Given the description of an element on the screen output the (x, y) to click on. 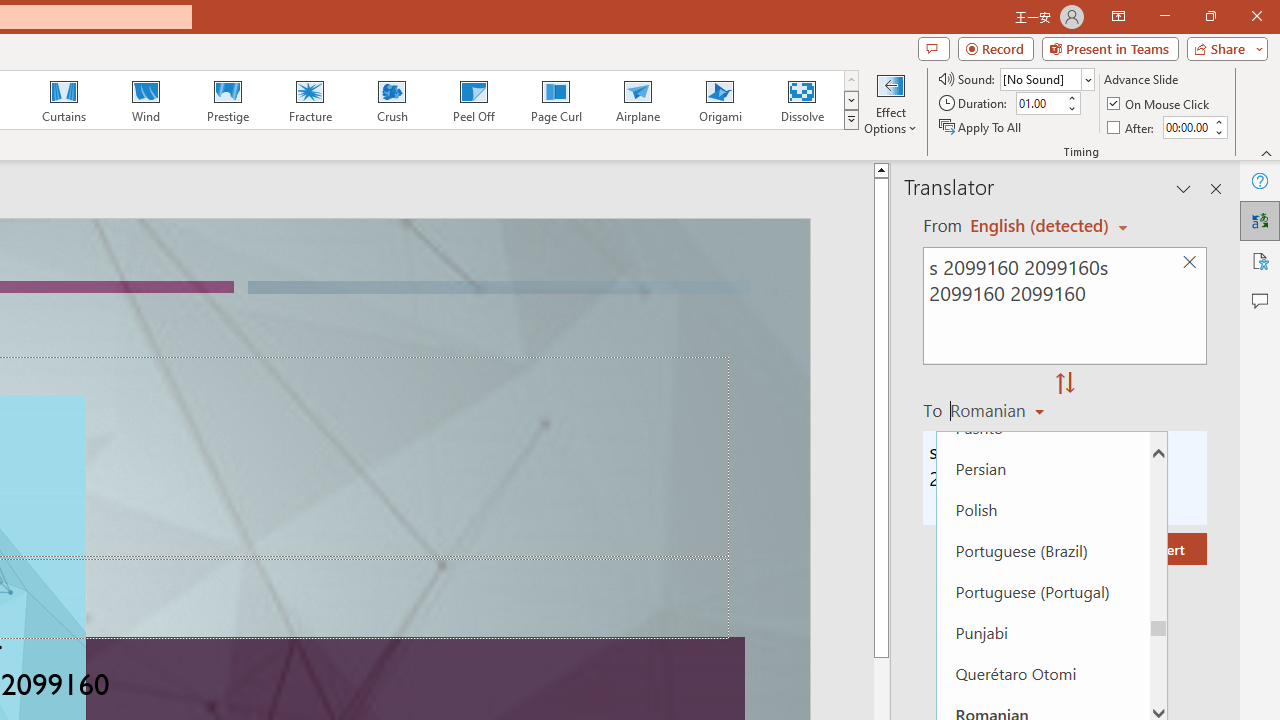
Portuguese (Portugal) (1042, 591)
Polish (1042, 508)
Origami (719, 100)
Romanian (1000, 409)
Transition Effects (850, 120)
Nepali (1042, 263)
Apply To All (981, 126)
Nyanja (1042, 344)
Prestige (227, 100)
Page Curl (555, 100)
Odia (1042, 385)
